Given the description of an element on the screen output the (x, y) to click on. 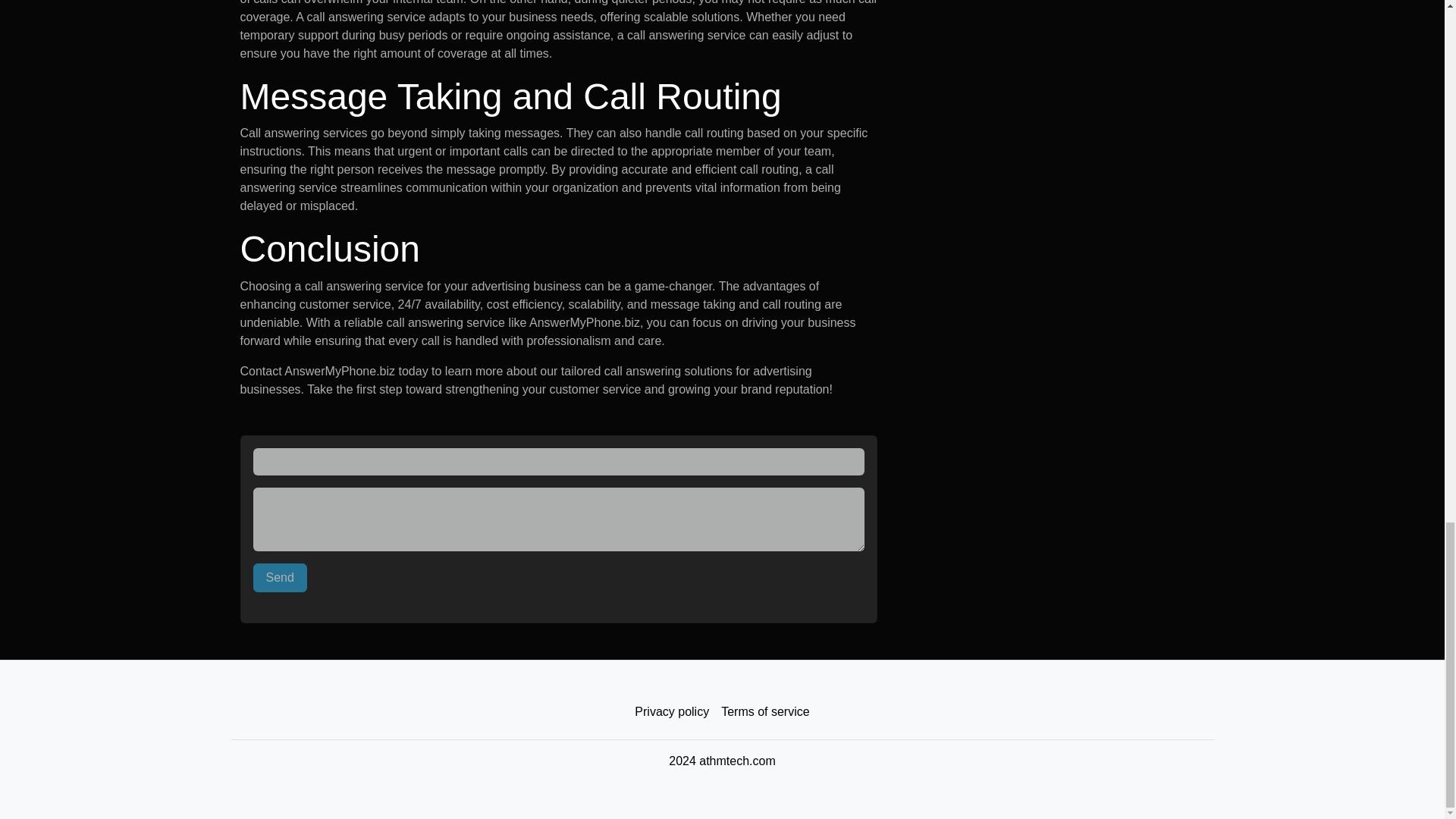
Send (280, 577)
Terms of service (764, 711)
Send (280, 577)
Privacy policy (671, 711)
